Given the description of an element on the screen output the (x, y) to click on. 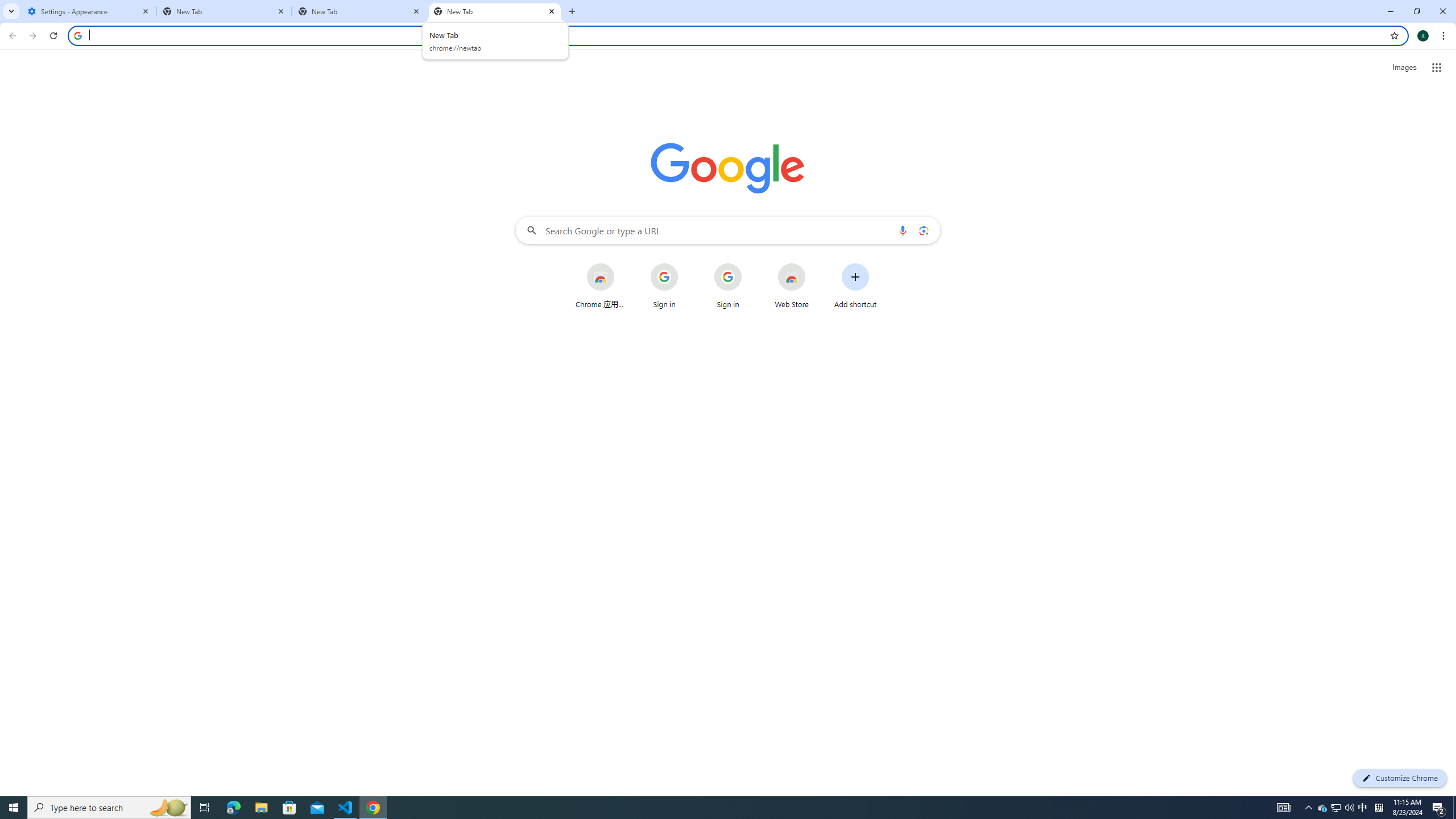
Web Store (792, 285)
New Tab (494, 11)
Search Google or type a URL (727, 230)
Add shortcut (855, 285)
